Given the description of an element on the screen output the (x, y) to click on. 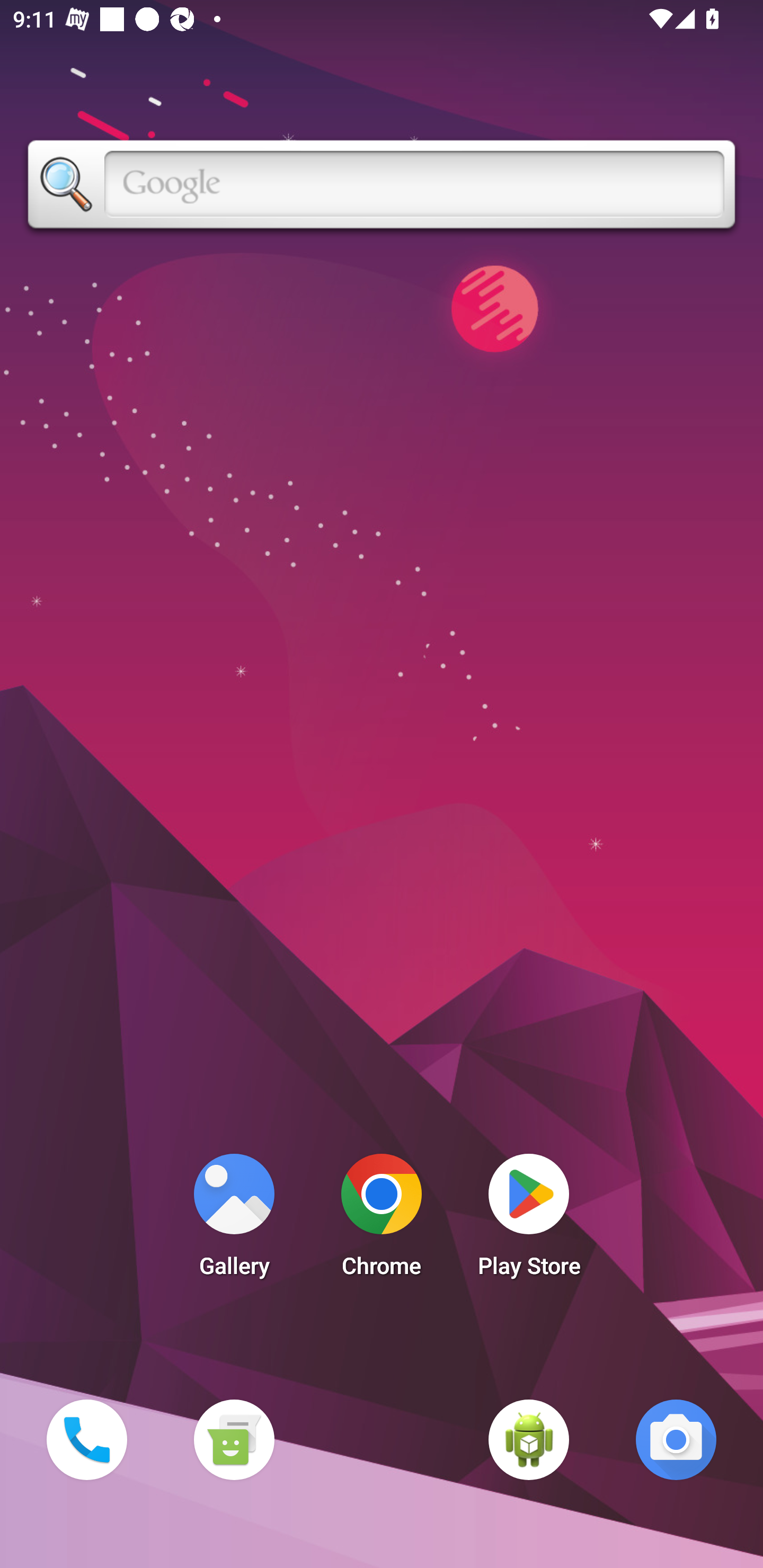
Gallery (233, 1220)
Chrome (381, 1220)
Play Store (528, 1220)
Phone (86, 1439)
Messaging (233, 1439)
WebView Browser Tester (528, 1439)
Camera (676, 1439)
